Given the description of an element on the screen output the (x, y) to click on. 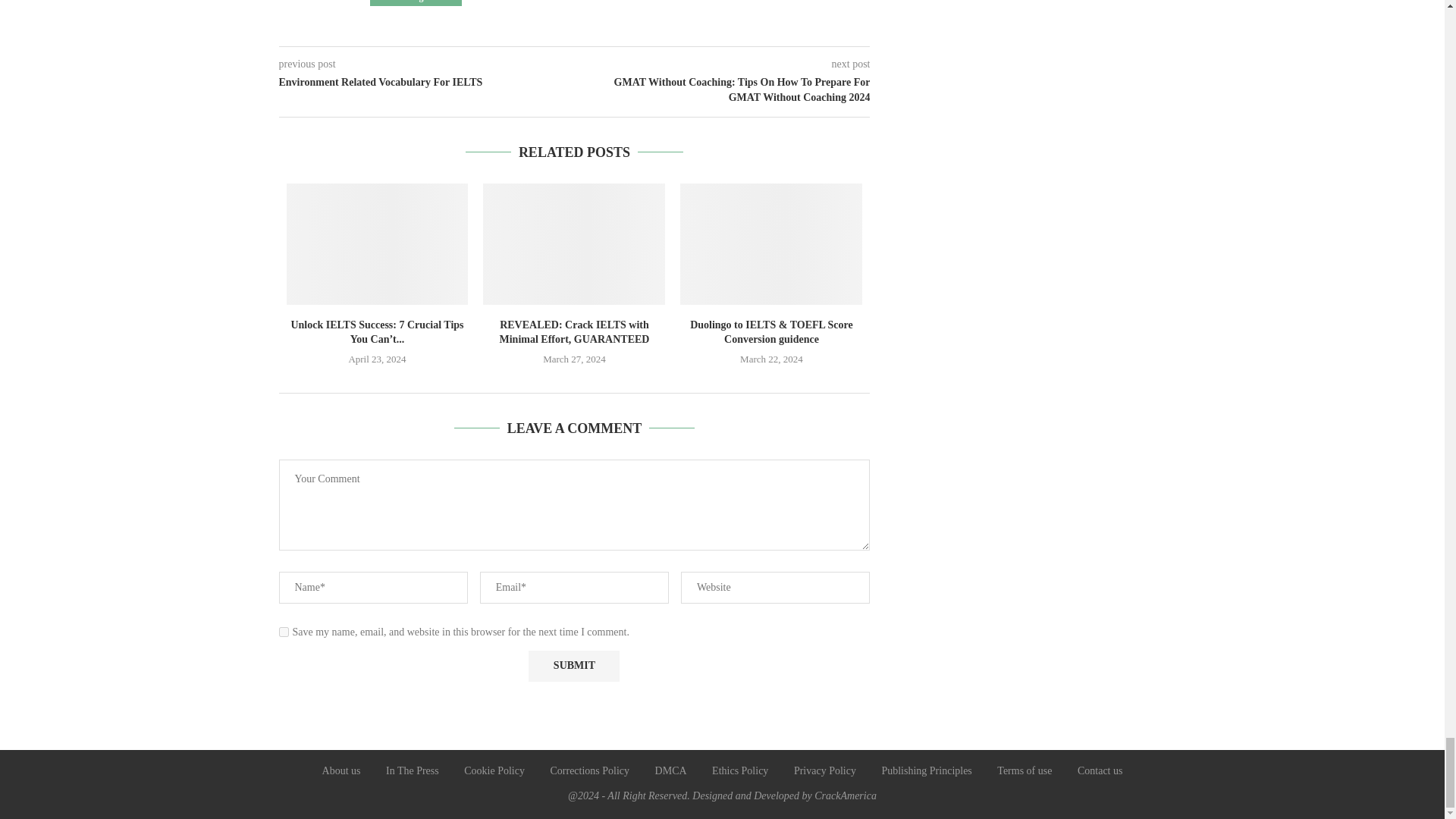
yes (283, 632)
Submit (574, 665)
